Given the description of an element on the screen output the (x, y) to click on. 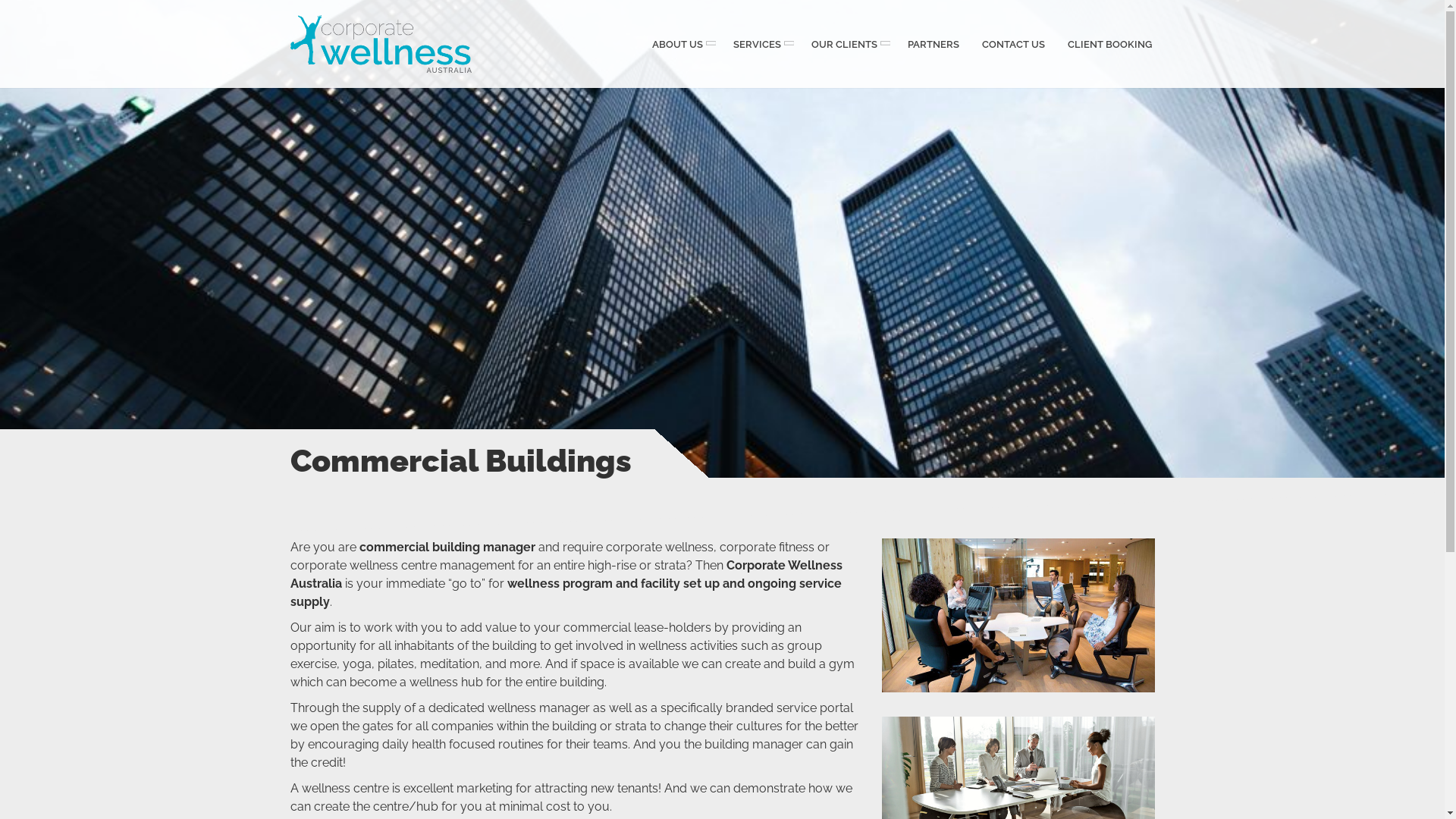
OUR CLIENTS Element type: text (847, 43)
SERVICES Element type: text (760, 43)
PARTNERS Element type: text (933, 43)
CLIENT BOOKING Element type: text (1108, 43)
ABOUT US Element type: text (680, 43)
CONTACT US Element type: text (1013, 43)
